Given the description of an element on the screen output the (x, y) to click on. 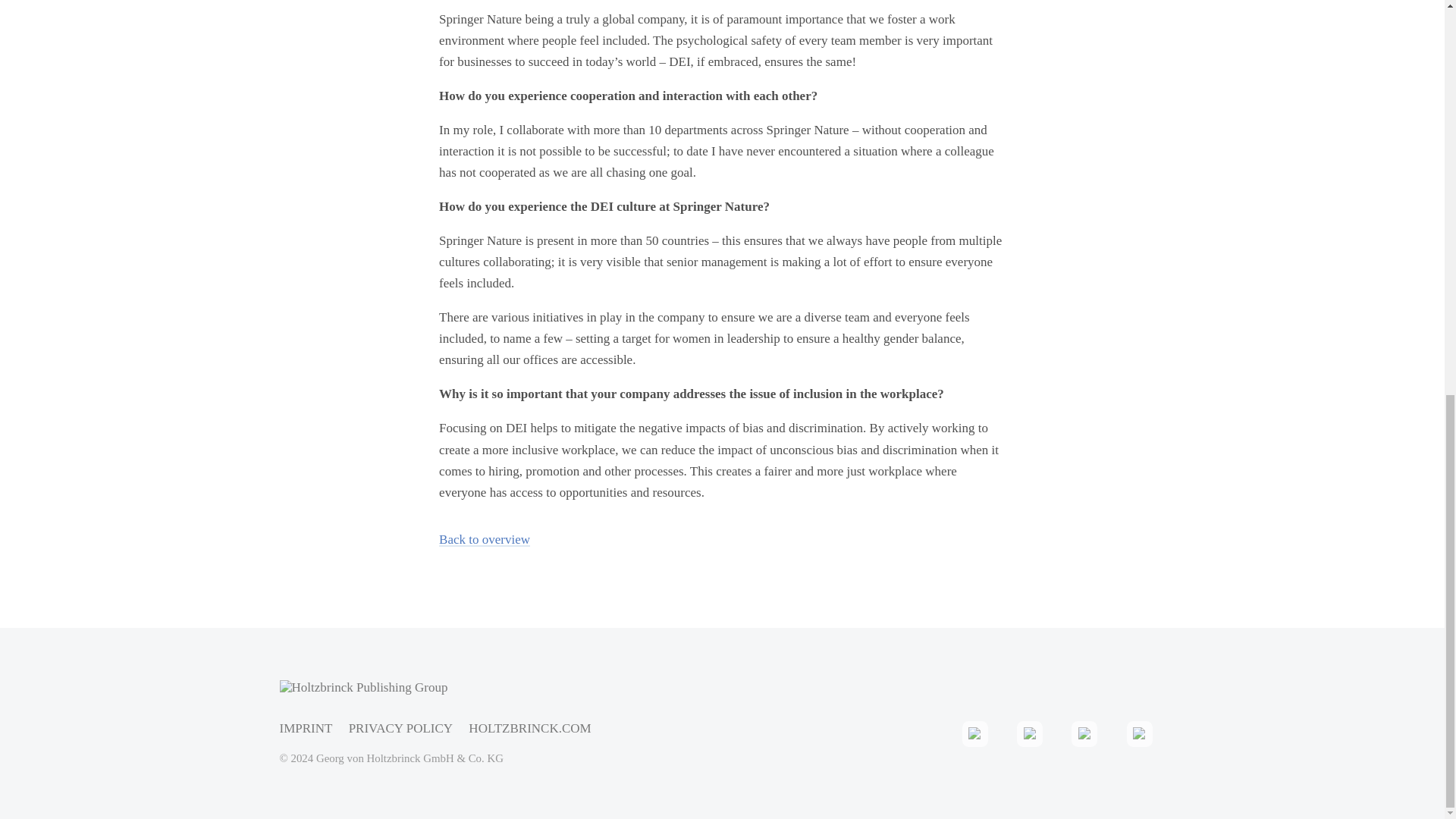
HOLTZBRINCK.COM (529, 728)
IMPRINT (305, 728)
Back to overview (484, 539)
Back to overview (484, 539)
PRIVACY POLICY (400, 728)
